Given the description of an element on the screen output the (x, y) to click on. 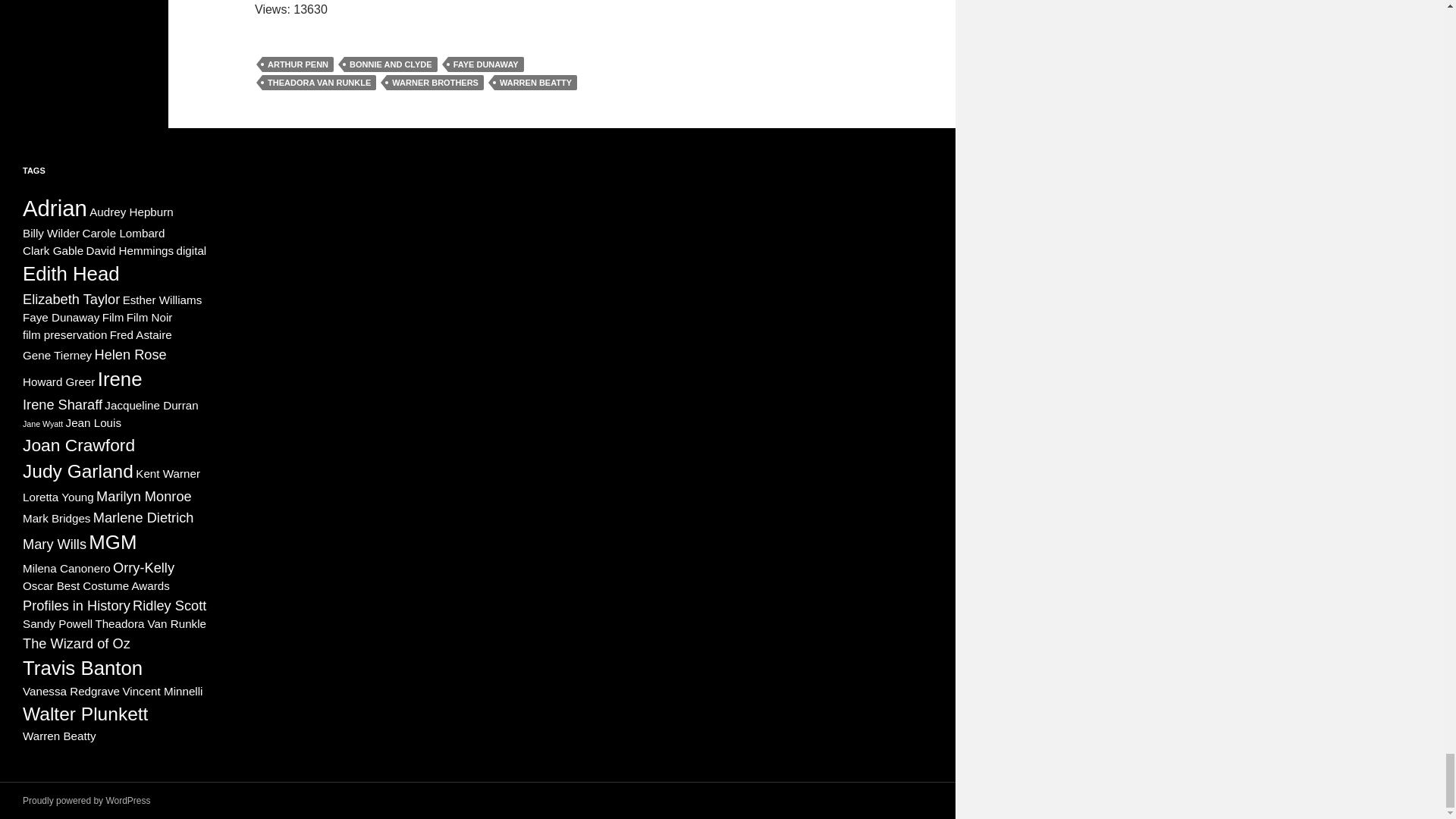
WARREN BEATTY (535, 82)
THEADORA VAN RUNKLE (318, 82)
FAYE DUNAWAY (486, 64)
BONNIE AND CLYDE (390, 64)
WARNER BROTHERS (435, 82)
ARTHUR PENN (297, 64)
